Given the description of an element on the screen output the (x, y) to click on. 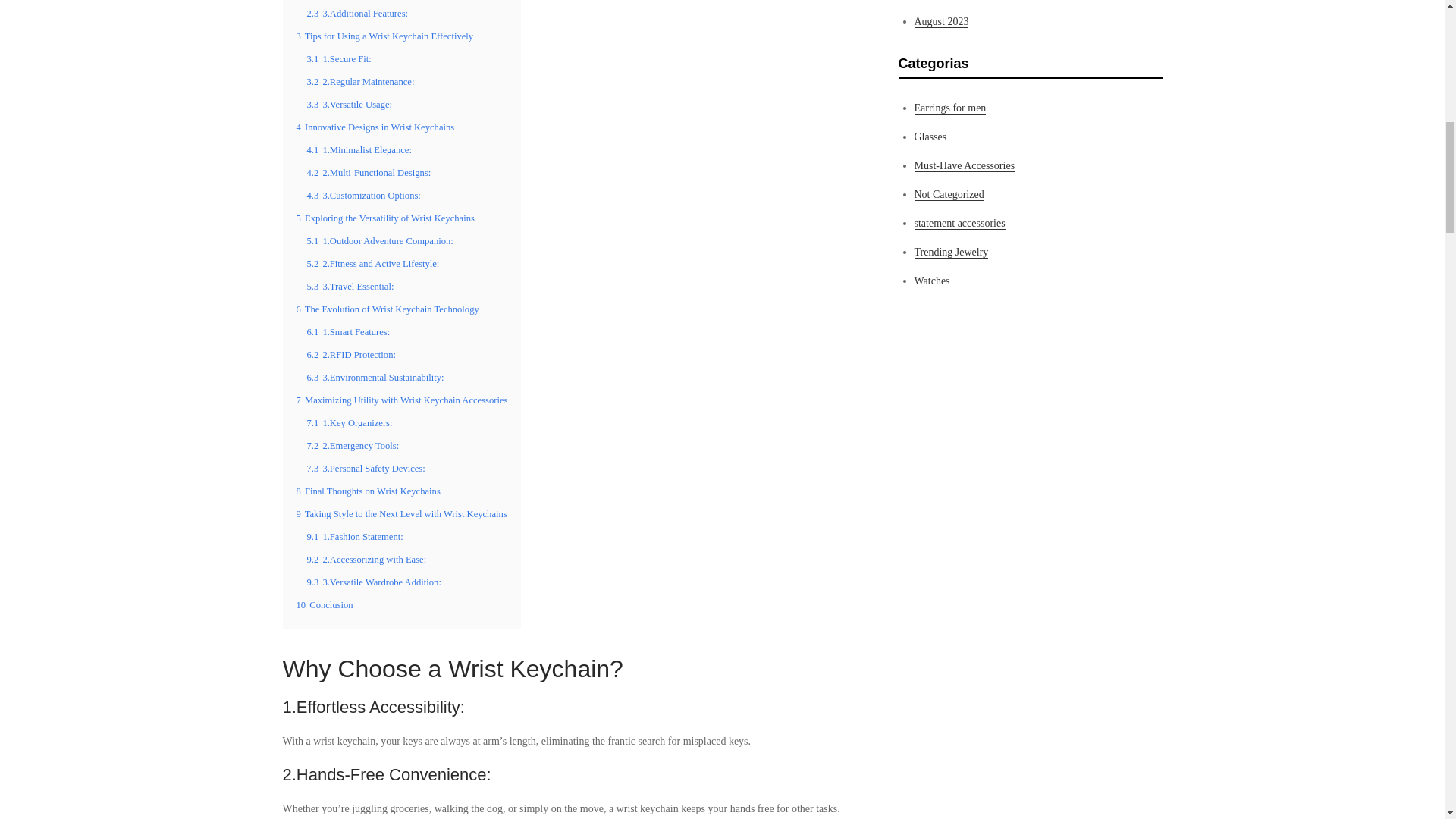
9.3 3.Versatile Wardrobe Addition: (373, 582)
4 Innovative Designs in Wrist Keychains (374, 127)
9.1 1.Fashion Statement: (354, 536)
3.3 3.Versatile Usage: (348, 104)
4.3 3.Customization Options: (362, 195)
7.3 3.Personal Safety Devices: (365, 468)
6 The Evolution of Wrist Keychain Technology (387, 308)
2.3 3.Additional Features: (356, 13)
7 Maximizing Utility with Wrist Keychain Accessories (400, 399)
5.2 2.Fitness and Active Lifestyle: (372, 263)
5 Exploring the Versatility of Wrist Keychains (384, 217)
3 Tips for Using a Wrist Keychain Effectively (384, 36)
6.1 1.Smart Features: (347, 331)
10 Conclusion (323, 604)
4.2 2.Multi-Functional Designs: (367, 172)
